Given the description of an element on the screen output the (x, y) to click on. 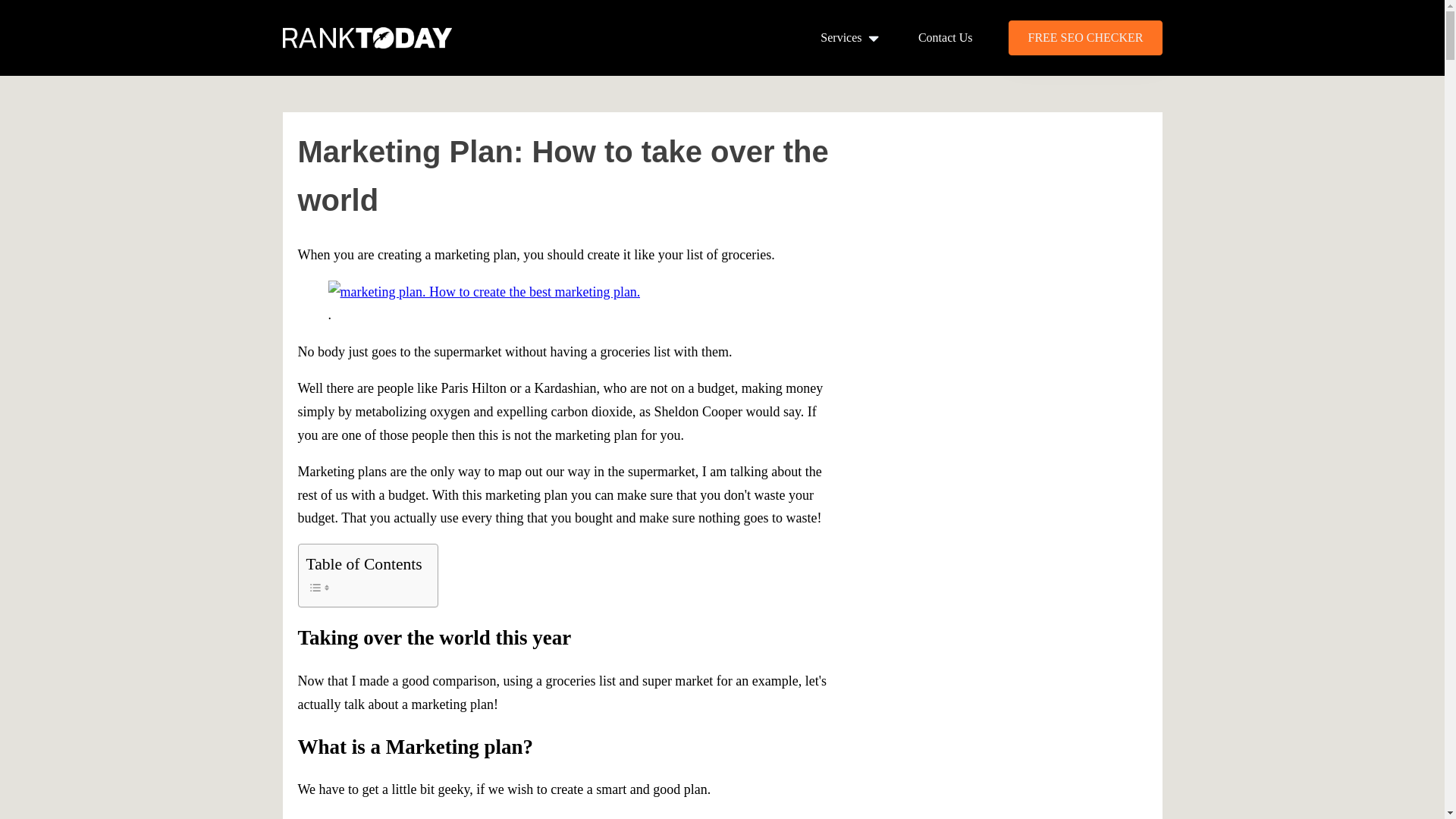
FREE SEO CHECKER (1085, 37)
Services (850, 37)
Contact Us (944, 37)
